Given the description of an element on the screen output the (x, y) to click on. 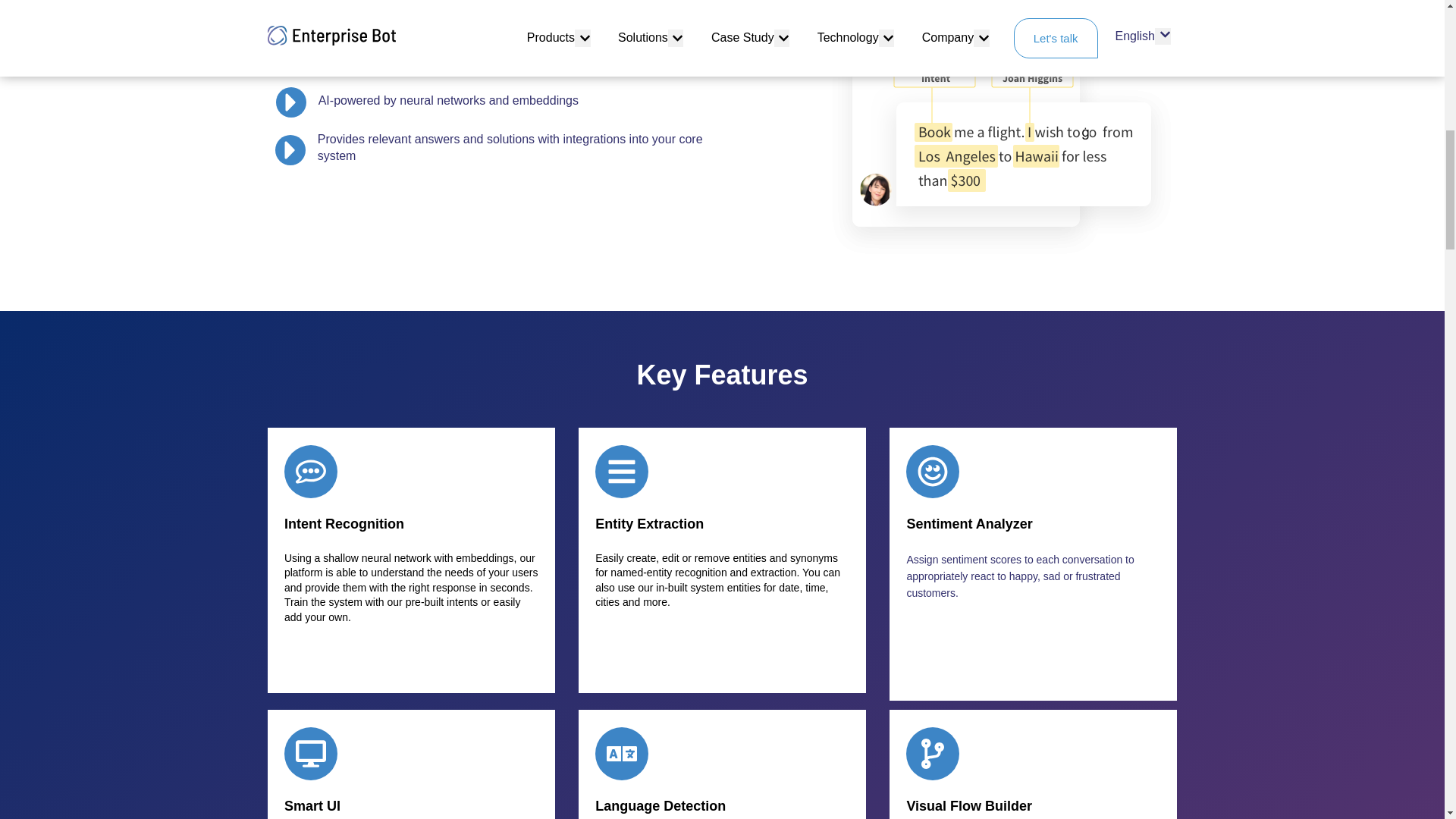
bWFpbi9pbWcvaW1nLTAwMDAxLWtvcnIucG5n (1001, 130)
